Given the description of an element on the screen output the (x, y) to click on. 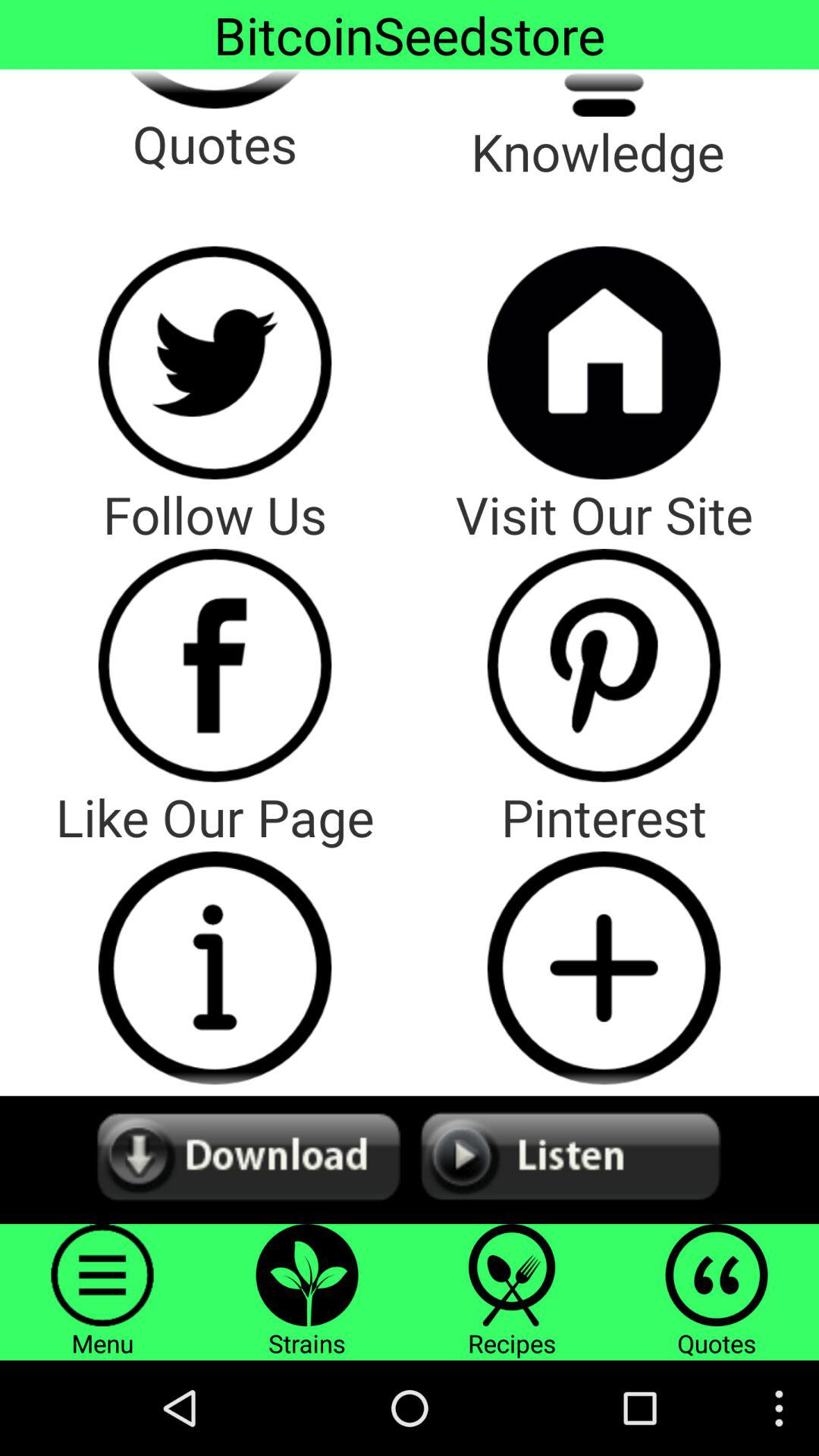
view information (214, 967)
